Given the description of an element on the screen output the (x, y) to click on. 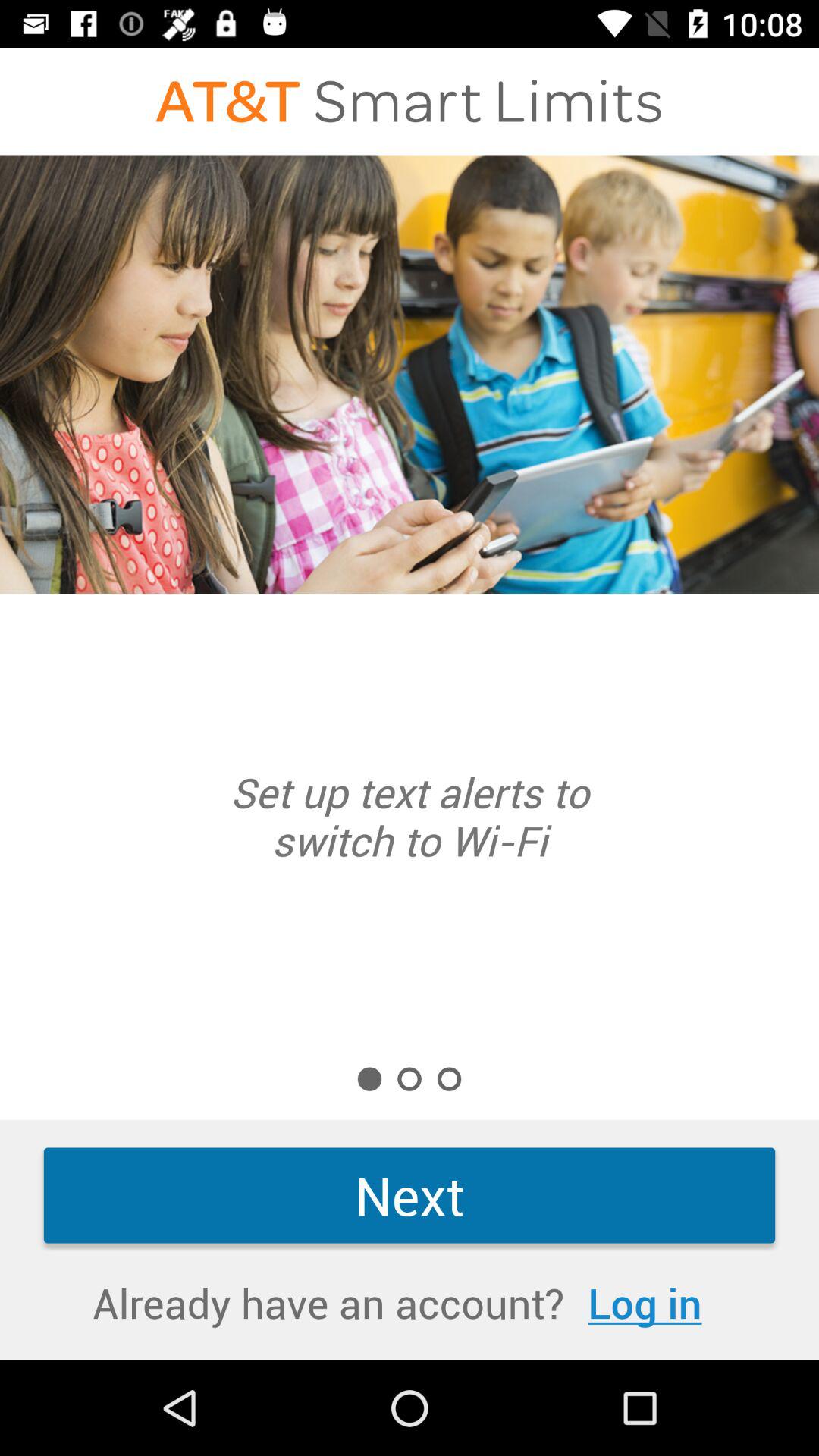
choose the item above log in item (409, 1195)
